Given the description of an element on the screen output the (x, y) to click on. 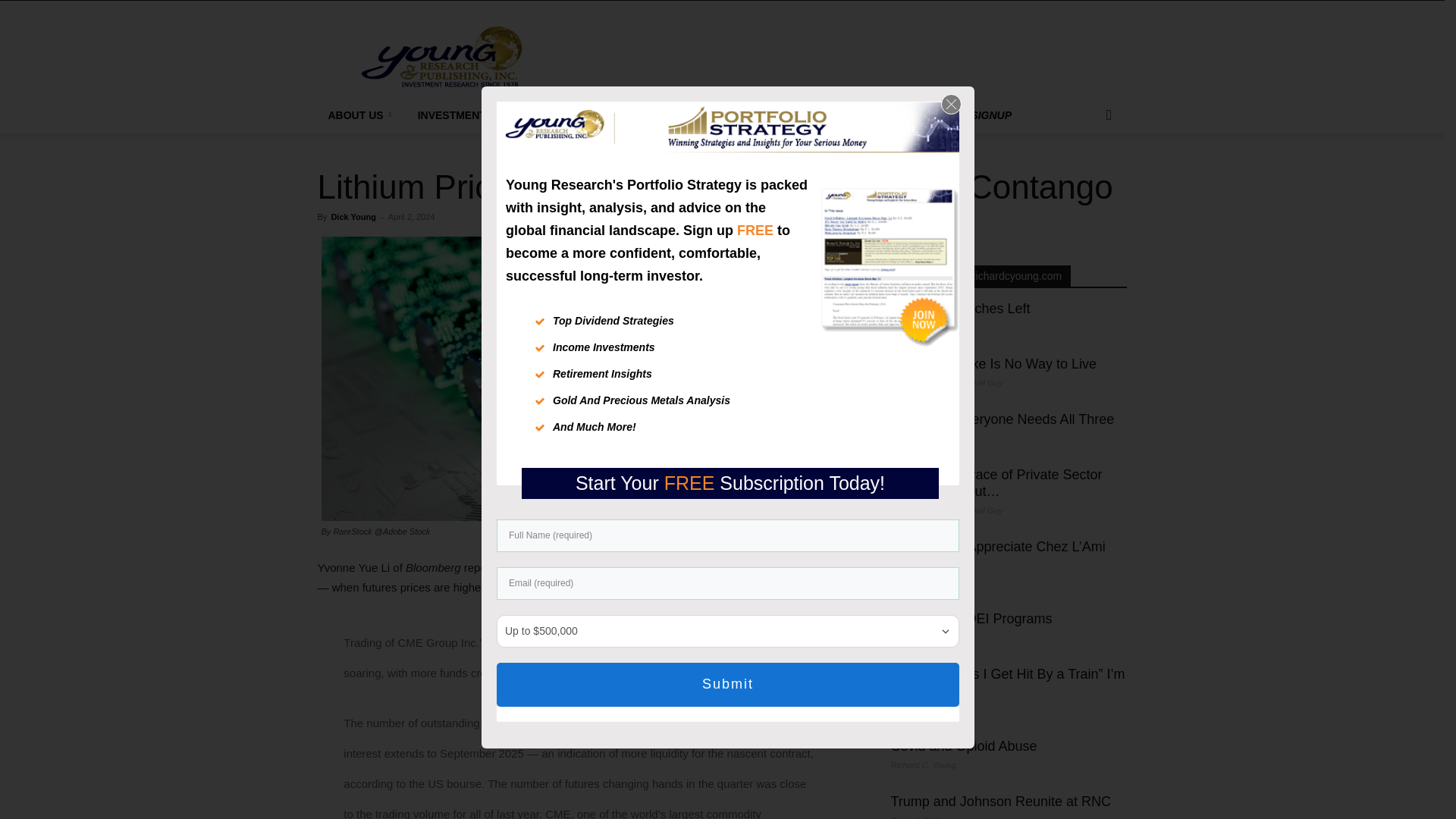
INVESTMENT ANALYSIS (485, 115)
ABOUT US (361, 115)
YR-Portfolio-Strategy (751, 127)
